Given the description of an element on the screen output the (x, y) to click on. 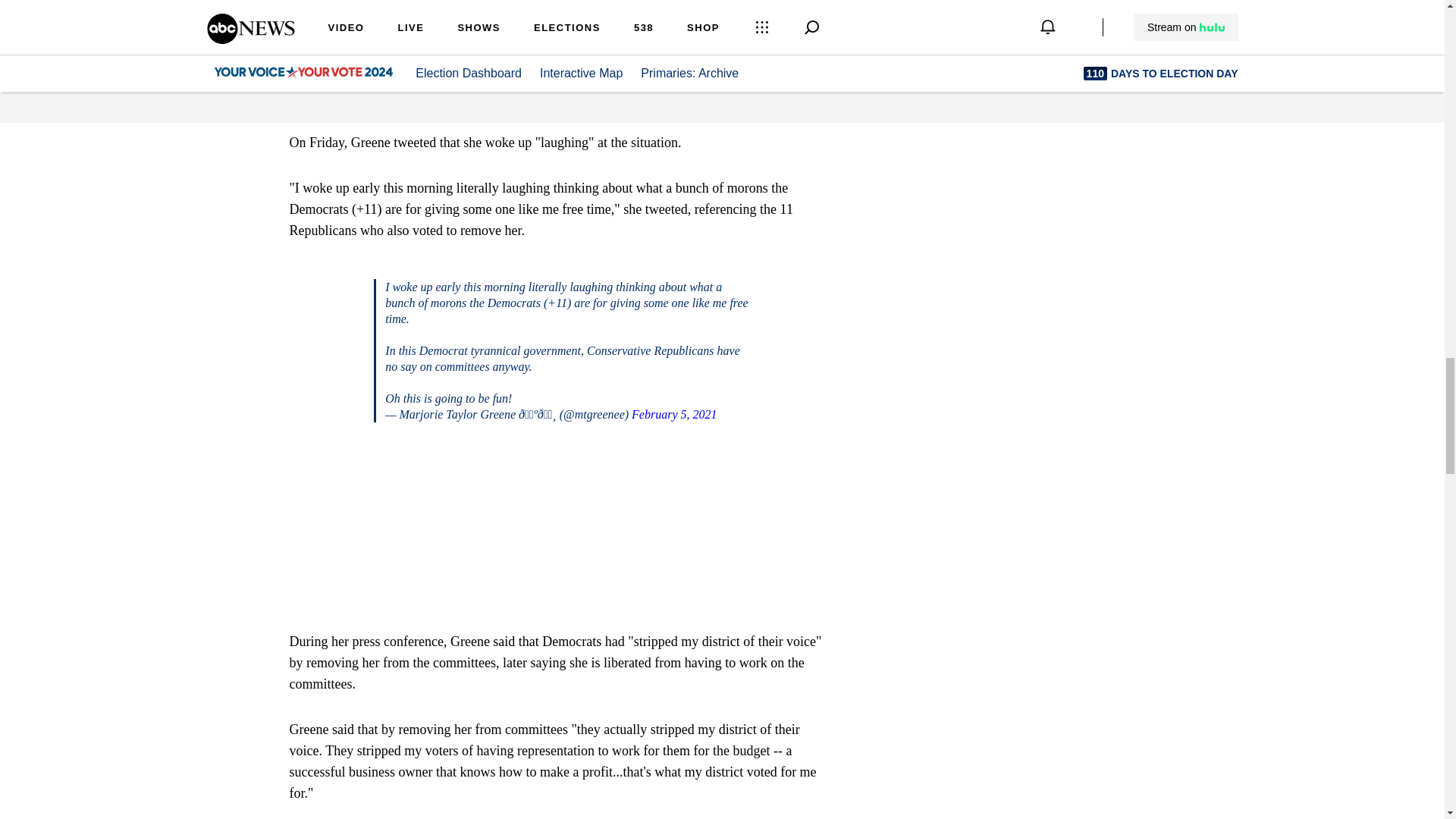
February 5, 2021 (673, 413)
